Given the description of an element on the screen output the (x, y) to click on. 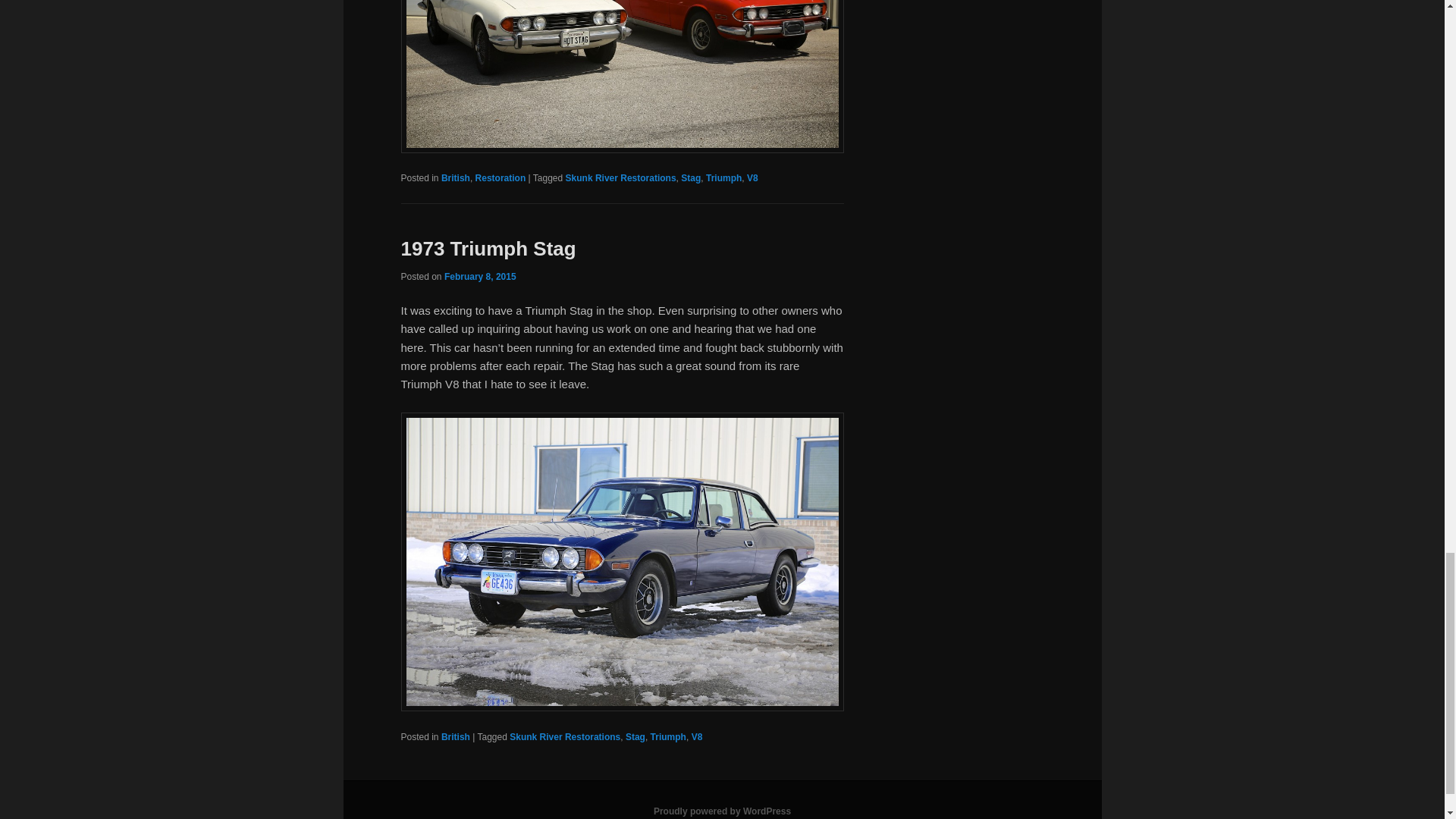
Semantic Personal Publishing Platform (721, 810)
12:00 pm (480, 276)
